Given the description of an element on the screen output the (x, y) to click on. 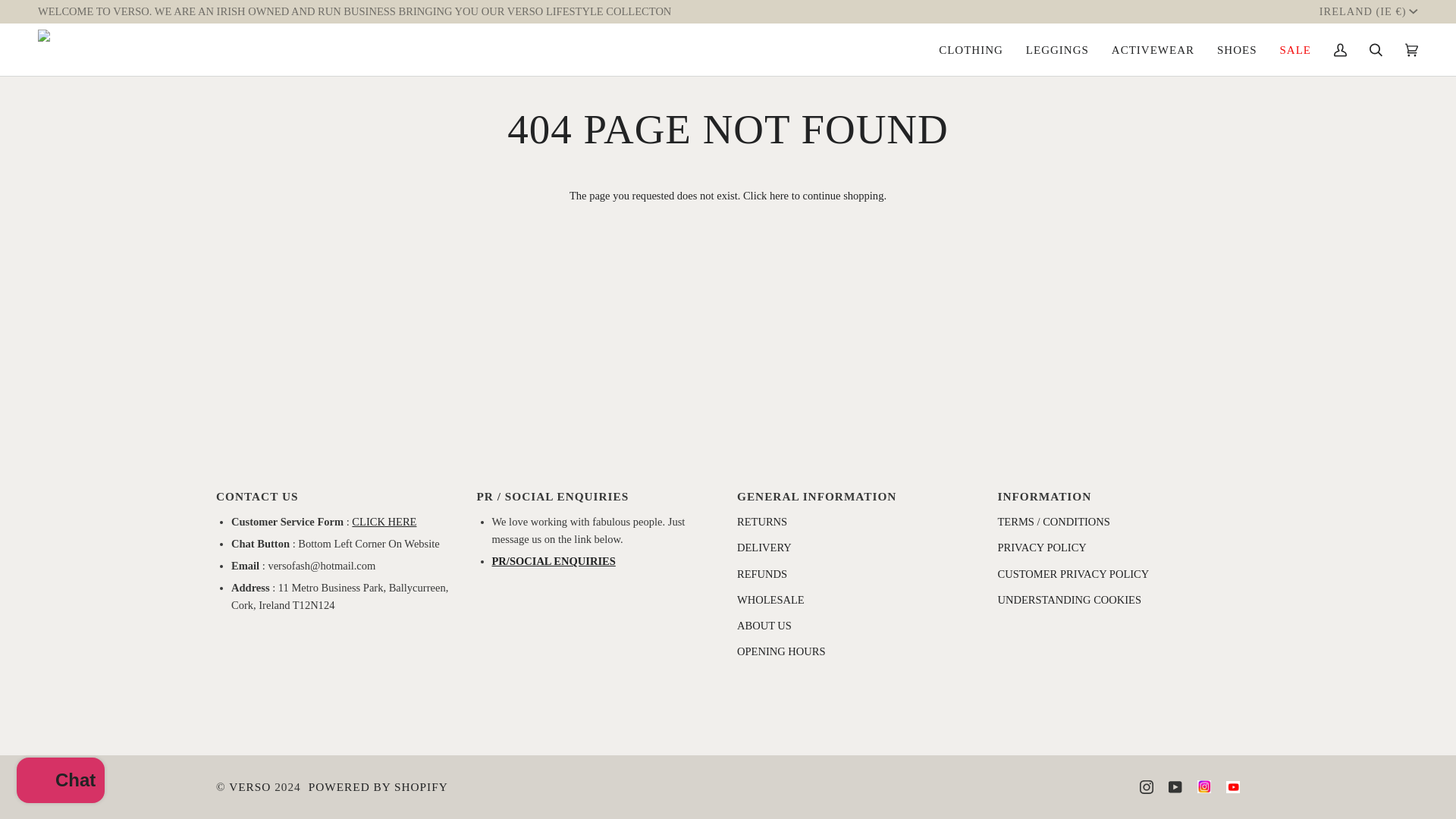
Shopify online store chat (60, 781)
YouTube (1175, 786)
CLOTHING (970, 49)
Instagram (1146, 786)
CONTACT US (384, 521)
CONTACT US (553, 561)
